Given the description of an element on the screen output the (x, y) to click on. 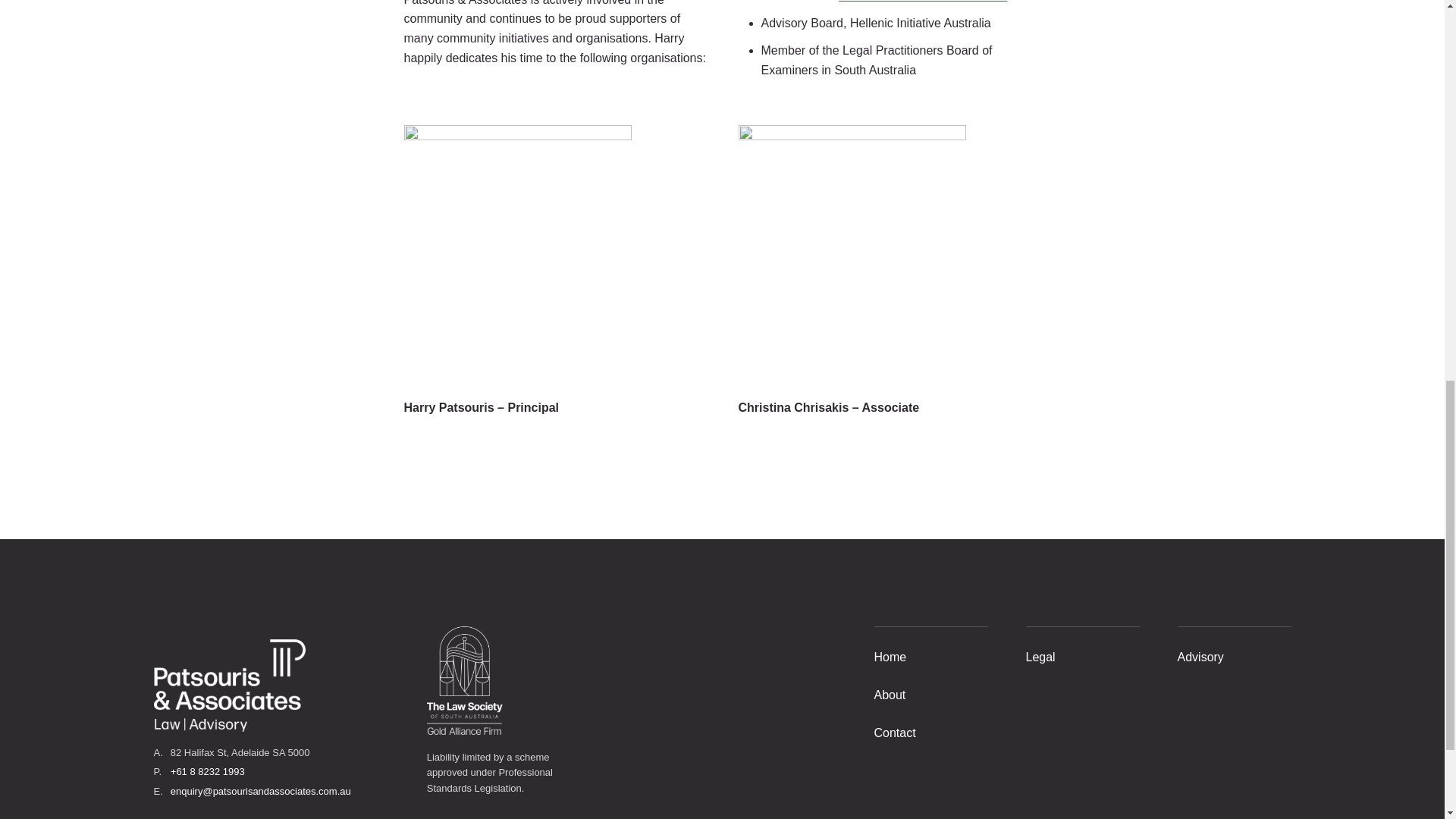
Foundation for Hellenic Studies (922, 1)
Legal (1039, 656)
About (889, 694)
Advisory (1199, 656)
Home (889, 656)
Contact (894, 732)
